Given the description of an element on the screen output the (x, y) to click on. 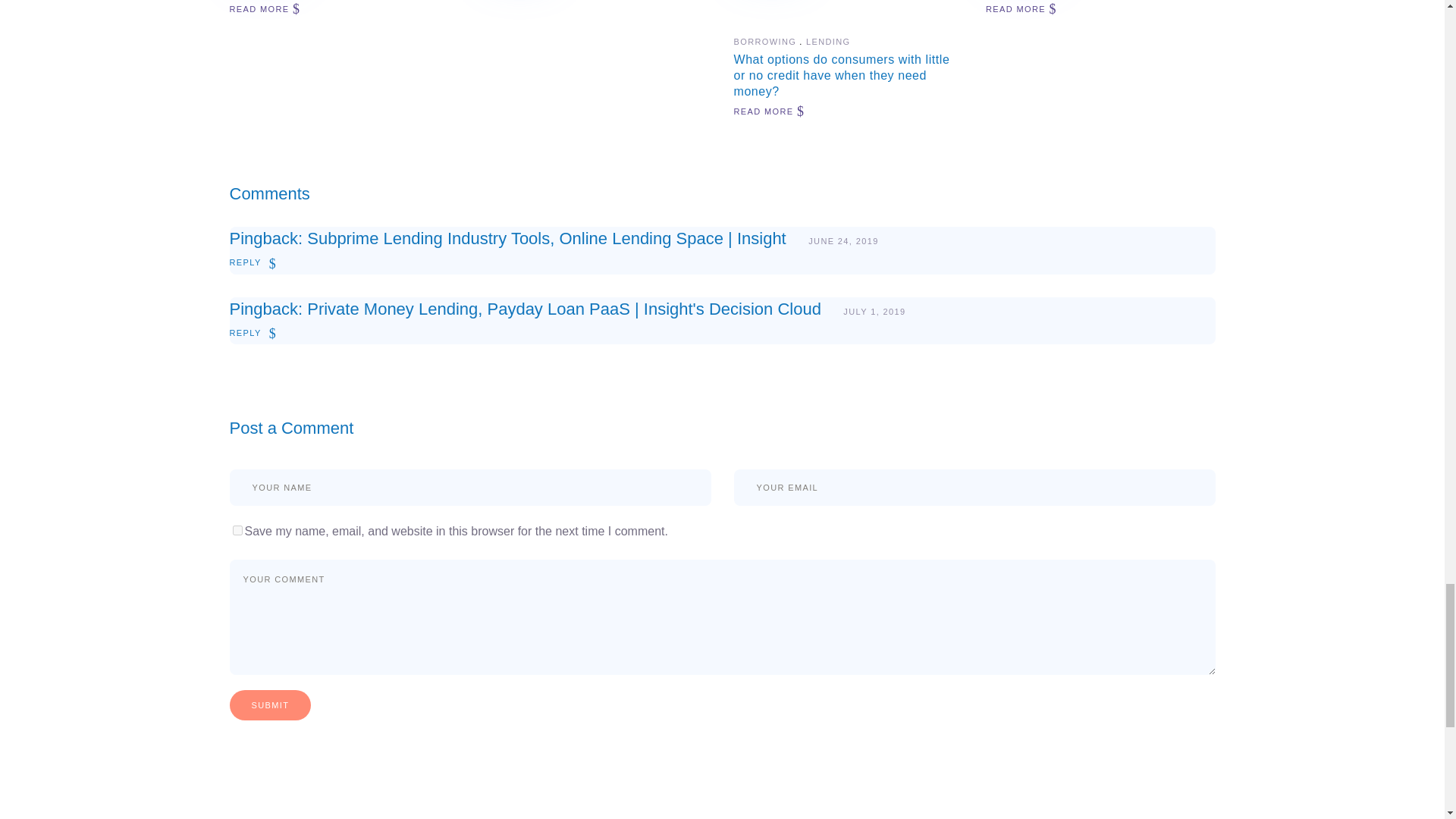
yes (236, 530)
Submit (269, 705)
